Given the description of an element on the screen output the (x, y) to click on. 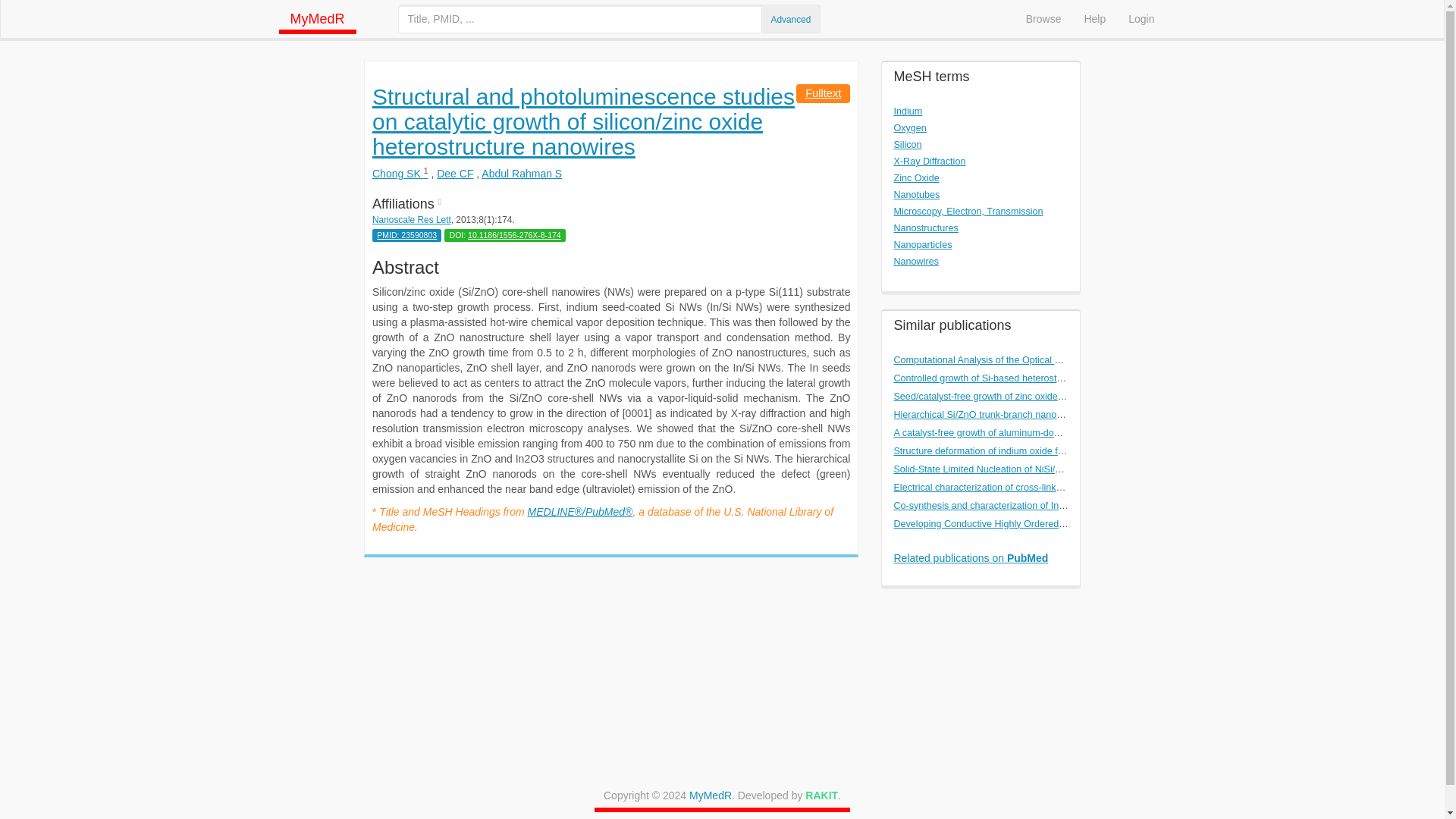
Zinc Oxide (916, 177)
Fulltext (823, 92)
Abdul Rahman S (521, 173)
Nanoparticles (922, 244)
Indium (907, 111)
Help (1093, 18)
PMID: 23590803 (406, 234)
